Given the description of an element on the screen output the (x, y) to click on. 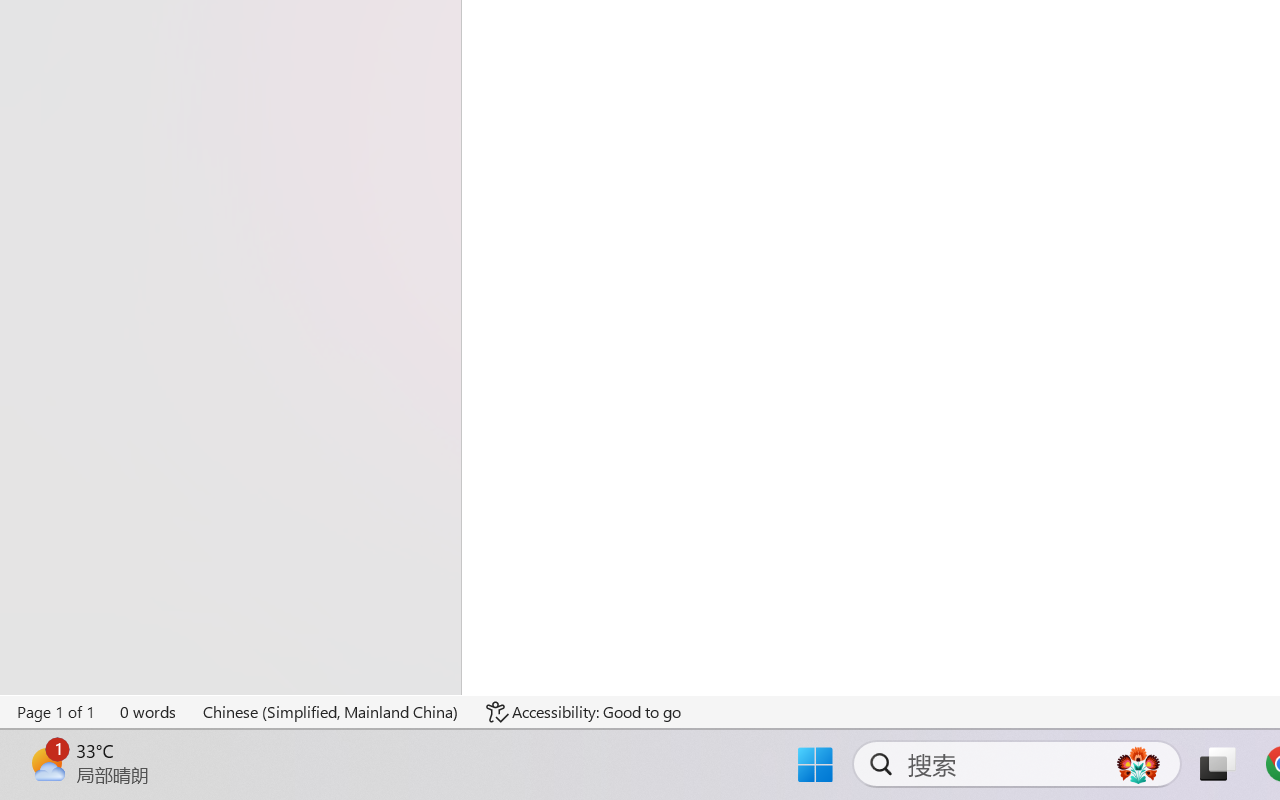
Language Chinese (Simplified, Mainland China) (331, 712)
